Given the description of an element on the screen output the (x, y) to click on. 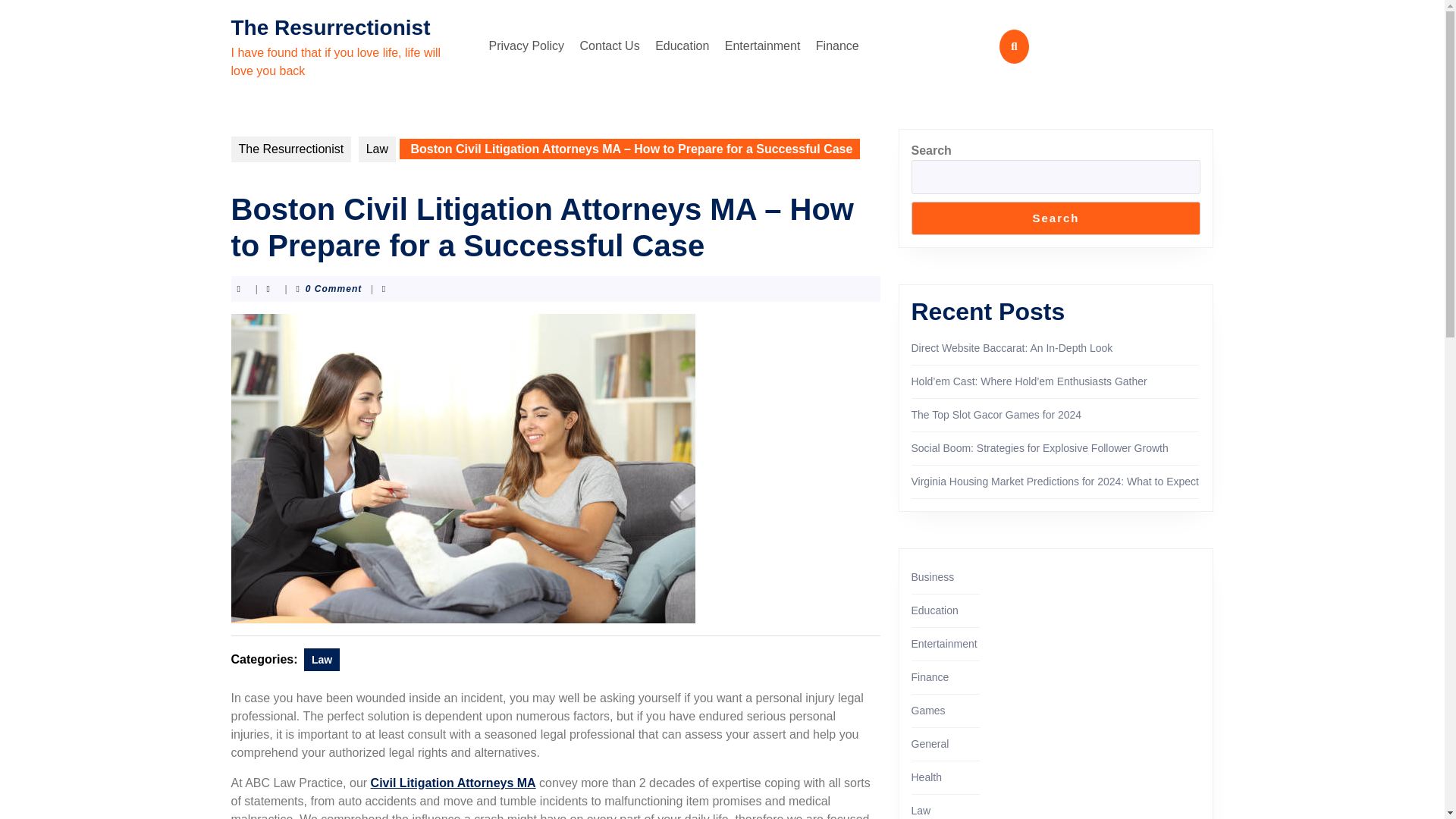
Privacy Policy (525, 46)
The Top Slot Gacor Games for 2024 (996, 414)
Health (926, 776)
Business (933, 576)
Games (927, 710)
Search (1056, 218)
The Resurrectionist (329, 27)
Law (321, 659)
The Resurrectionist (290, 149)
Social Boom: Strategies for Explosive Follower Growth (1040, 448)
Law (377, 149)
General (930, 743)
Direct Website Baccarat: An In-Depth Look (1012, 347)
Finance (836, 46)
Civil Litigation Attorneys MA (453, 782)
